Given the description of an element on the screen output the (x, y) to click on. 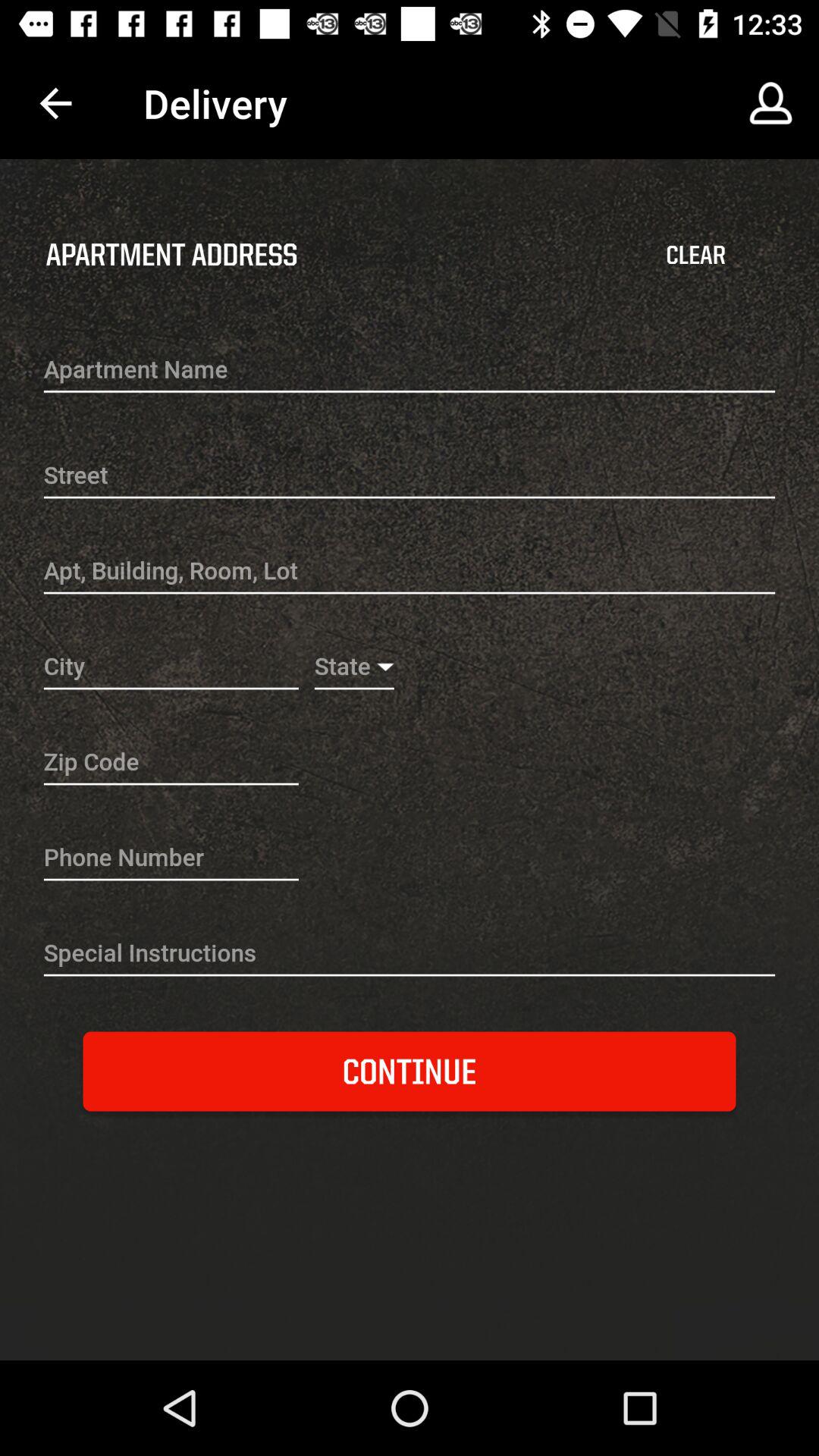
open the item below the clear icon (409, 371)
